Given the description of an element on the screen output the (x, y) to click on. 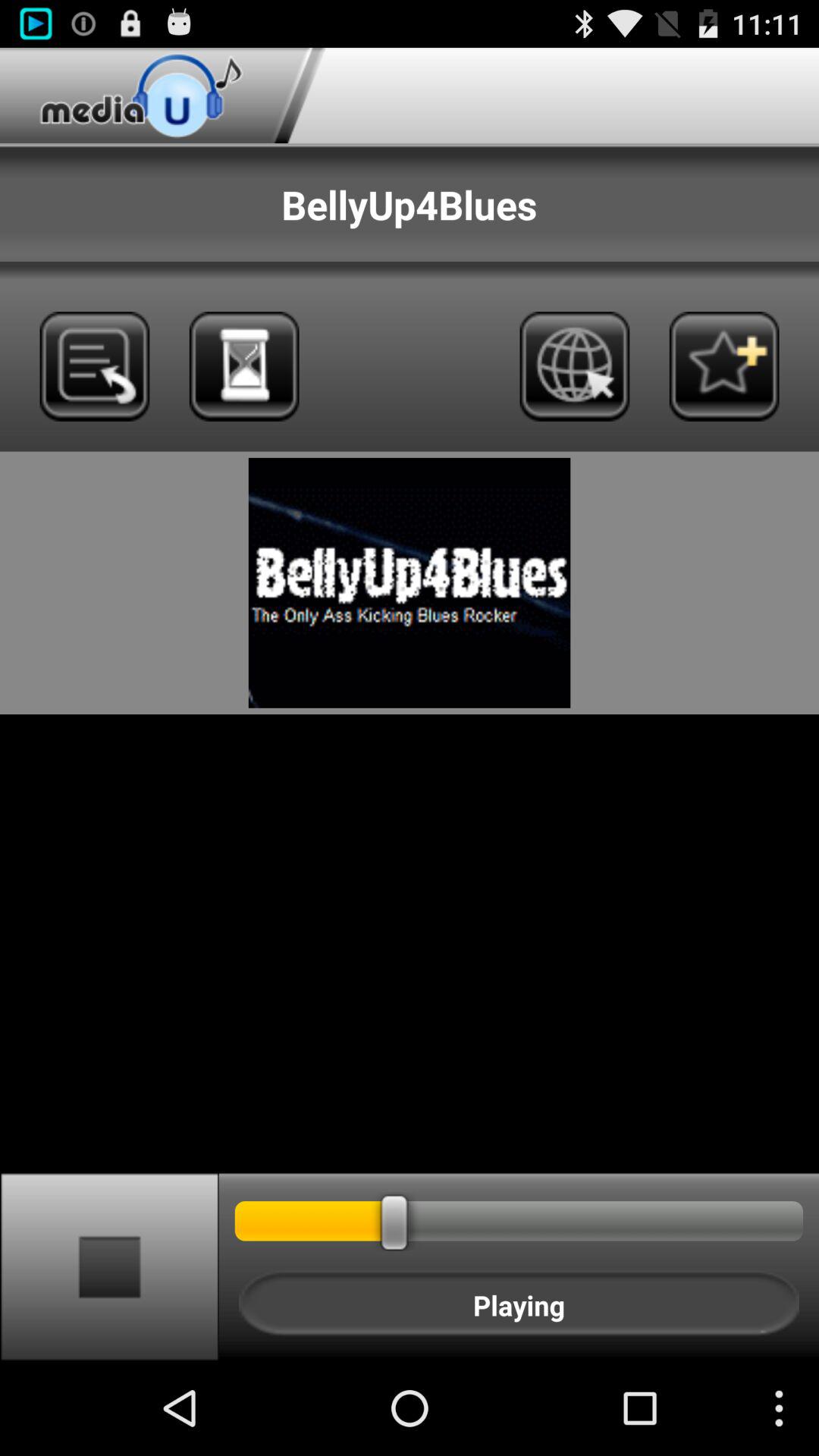
stop media (109, 1266)
